Given the description of an element on the screen output the (x, y) to click on. 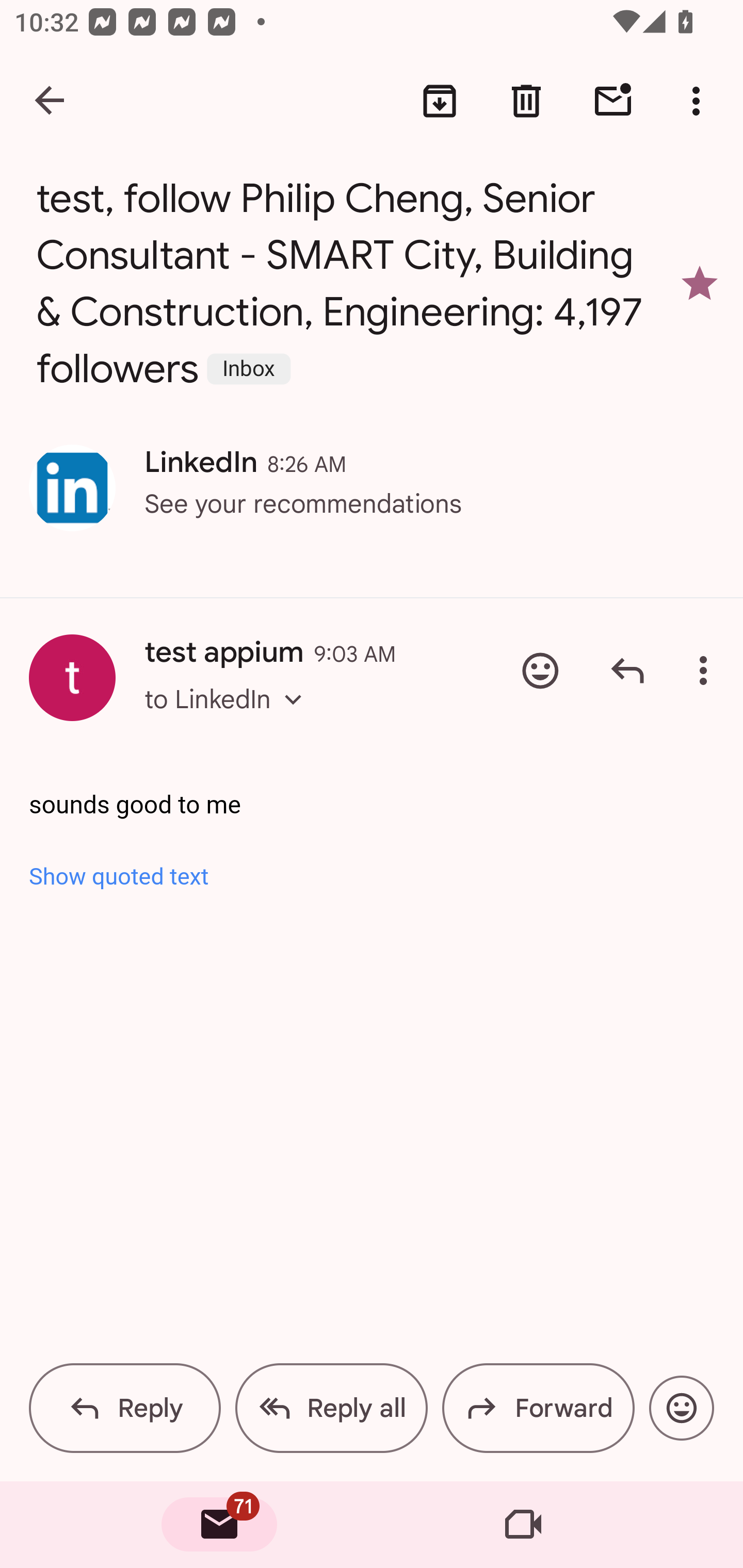
Navigate up (50, 101)
Archive (439, 101)
Delete (525, 101)
Mark unread (612, 101)
More options (699, 101)
Remove star (699, 283)
Show contact information for LinkedIn (71, 488)
Add emoji reaction (540, 670)
Reply (626, 670)
More options (706, 670)
Show contact information for test appium (71, 678)
to LinkedIn (229, 717)
Reply (124, 1407)
Reply all (331, 1407)
Forward (538, 1407)
Add emoji reaction (681, 1407)
Meet (523, 1524)
